Given the description of an element on the screen output the (x, y) to click on. 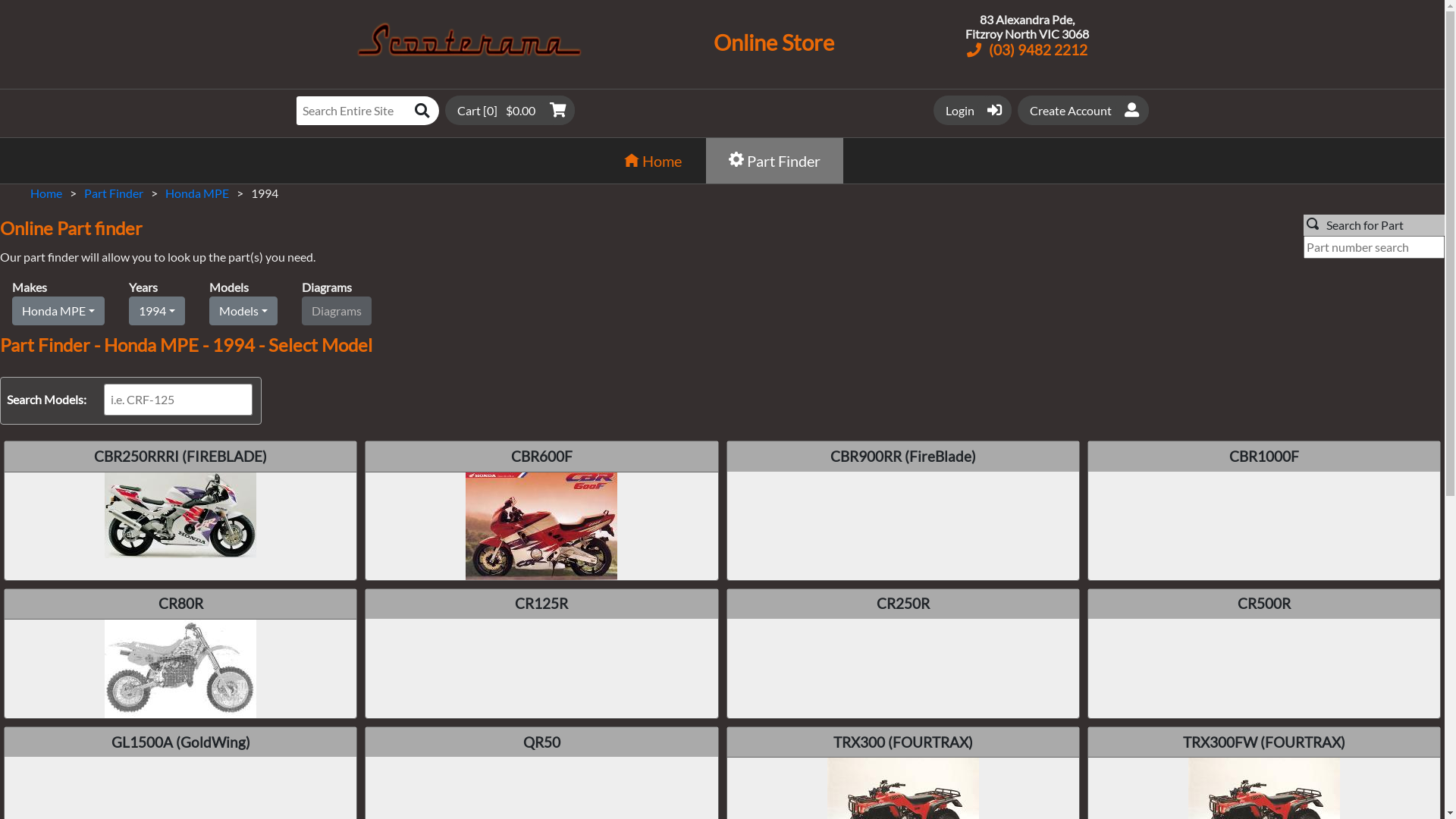
Honda MPE Element type: text (58, 310)
CR125R Element type: text (541, 653)
Part Finder Element type: text (113, 192)
CBR1000F Element type: text (1264, 510)
Online Store Element type: text (773, 47)
Models Element type: text (243, 310)
(03) 9482 2212 Element type: text (1026, 49)
CBR600F Element type: text (541, 510)
Honda MPE Element type: text (197, 192)
1994 Element type: text (156, 310)
Login Element type: text (972, 109)
Part Finder Element type: text (774, 160)
Create Account Element type: text (1082, 109)
Home Element type: text (46, 192)
Home Element type: text (652, 160)
CR500R Element type: text (1264, 653)
CBR900RR (FireBlade) Element type: text (902, 510)
Diagrams Element type: text (336, 310)
Cart 0 0.00 Element type: text (509, 109)
CR250R Element type: text (902, 653)
CBR250RRRI (FIREBLADE) Element type: text (180, 510)
CR80R Element type: text (180, 653)
